Given the description of an element on the screen output the (x, y) to click on. 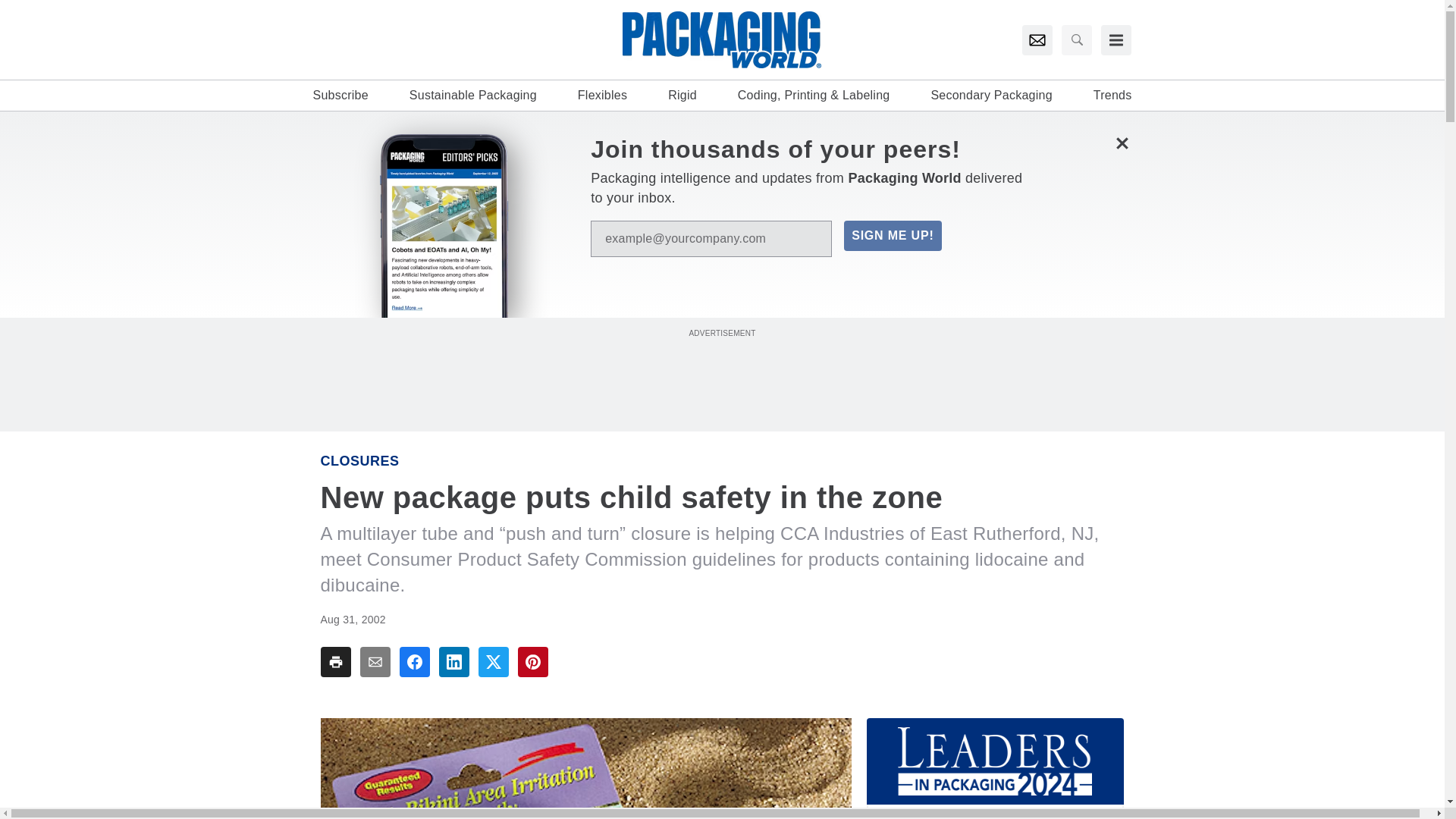
3rd party ad content (721, 374)
SIGN ME UP! (892, 235)
Sustainable Packaging (473, 95)
Share To facebook (413, 662)
Closures (359, 460)
Flexibles (602, 95)
Rigid (682, 95)
Share To linkedin (453, 662)
Share To pinterest (531, 662)
Trends (1112, 95)
Secondary Packaging (990, 95)
Share To twitter (492, 662)
Share To email (374, 662)
Share To print (335, 662)
Subscribe (340, 95)
